Given the description of an element on the screen output the (x, y) to click on. 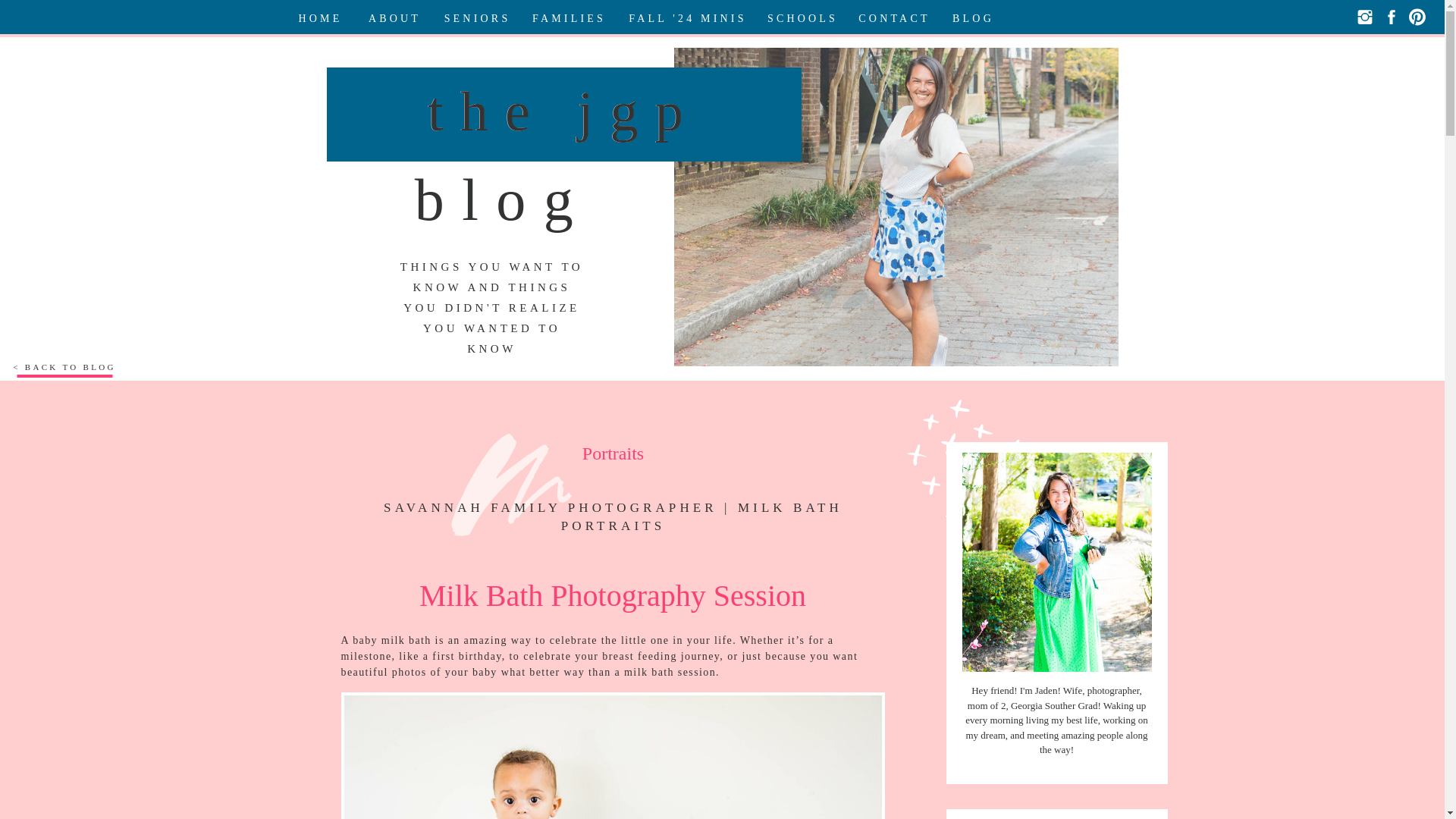
BLOG (972, 17)
FAMILIES (569, 17)
ABOUT (395, 17)
HOME (320, 17)
SCHOOLS (802, 17)
CONTACT (894, 17)
SENIORS (476, 17)
FALL '24 MINIS (687, 17)
